Given the description of an element on the screen output the (x, y) to click on. 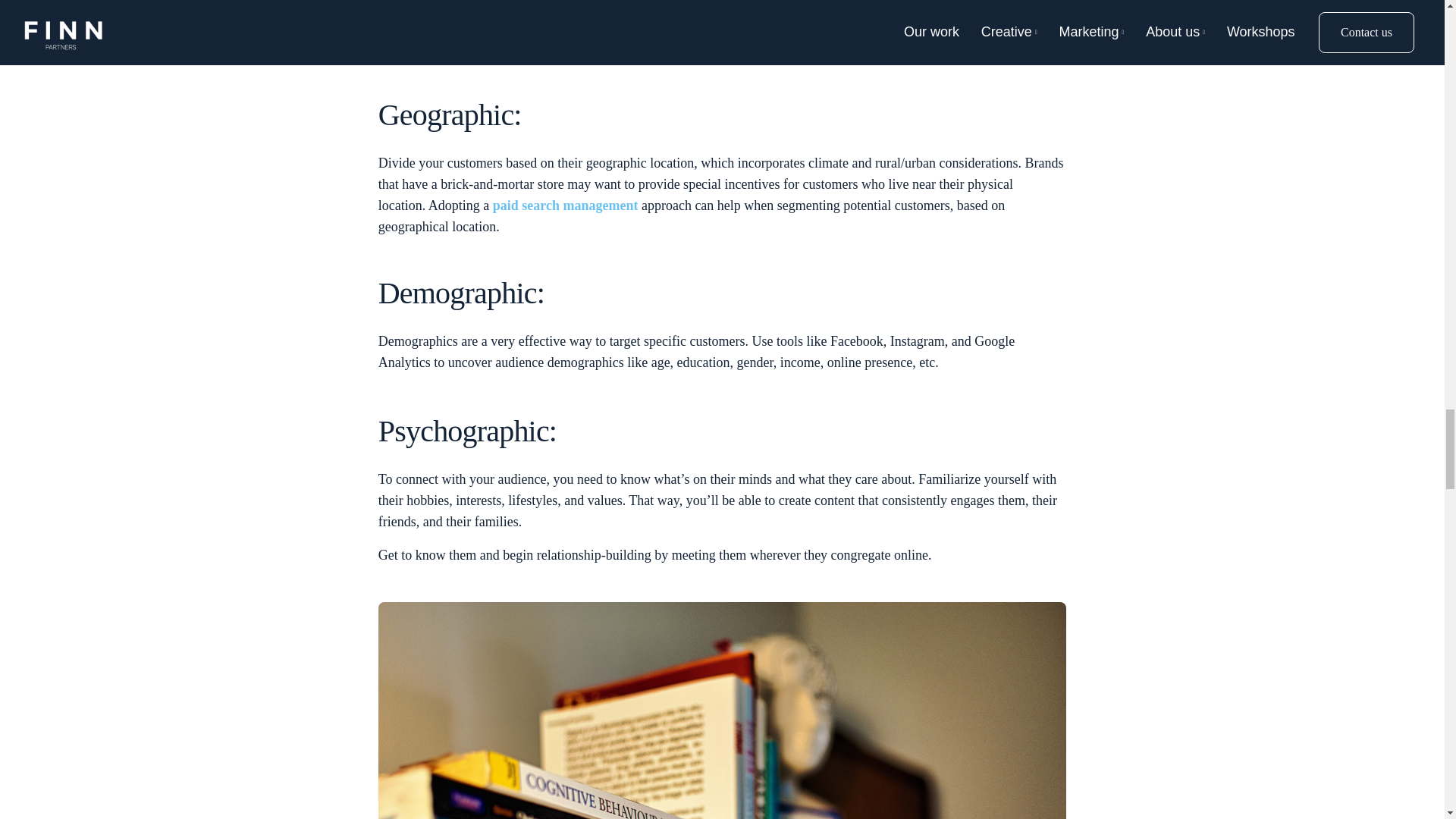
paid search management (566, 205)
